Given the description of an element on the screen output the (x, y) to click on. 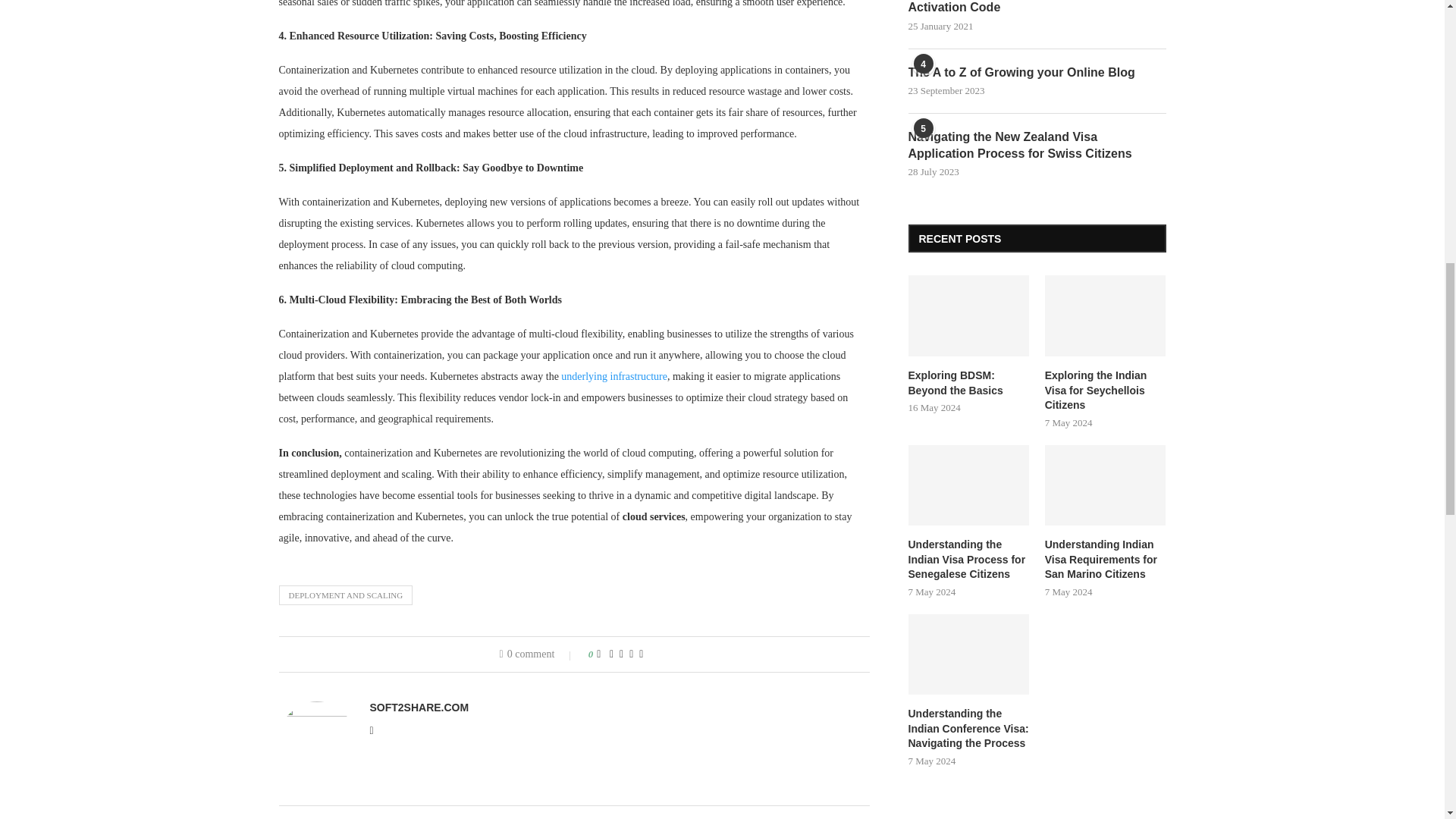
Author Soft2share.com (418, 707)
DEPLOYMENT AND SCALING (346, 595)
underlying infrastructure (612, 376)
